Given the description of an element on the screen output the (x, y) to click on. 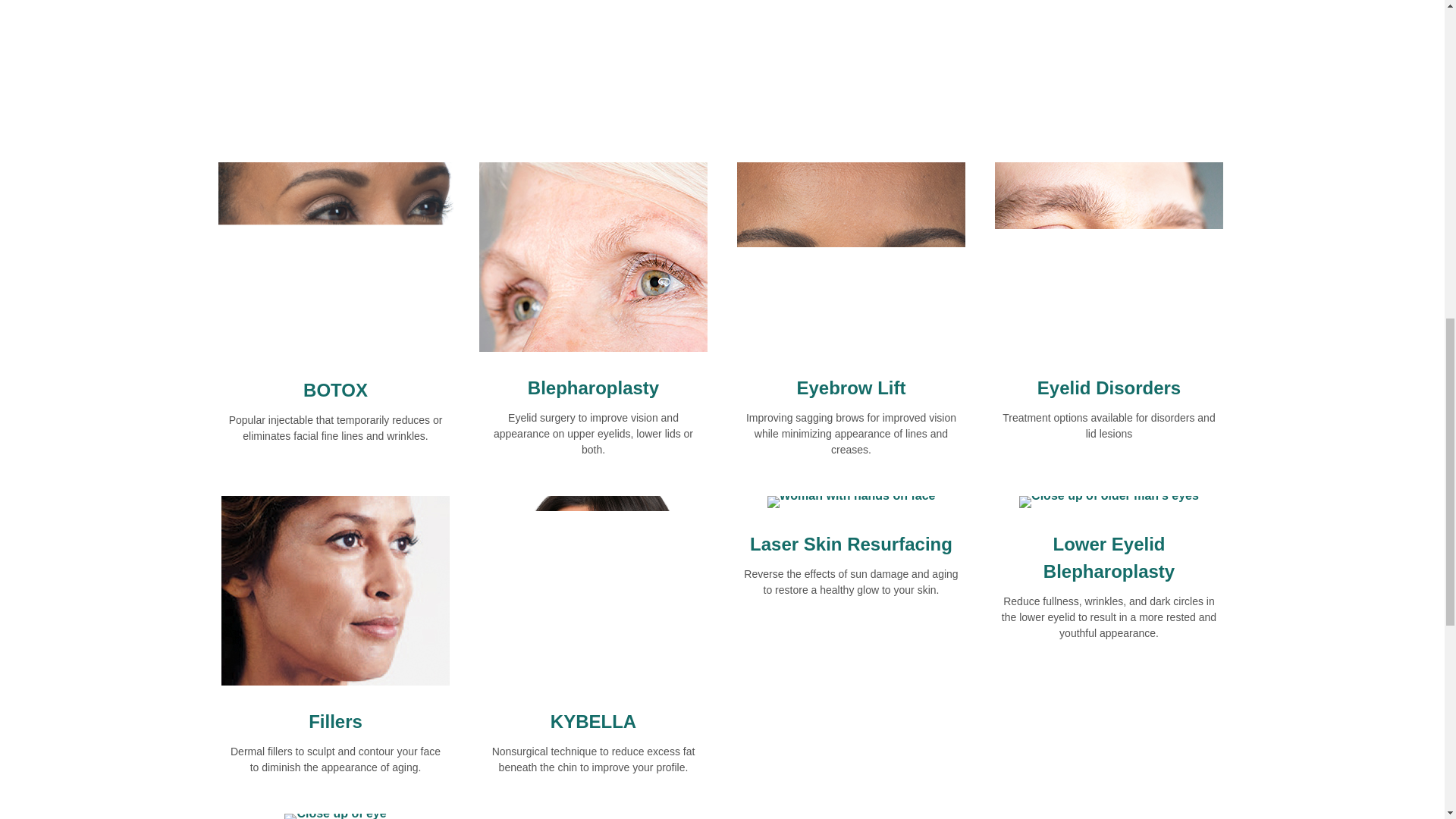
skin resurfacing (851, 501)
upper bleph (593, 257)
Ptosis (334, 816)
lasik (850, 257)
botox (335, 257)
bleph (1108, 501)
Untitled-9 (335, 590)
eyelid bump (1108, 257)
